Given the description of an element on the screen output the (x, y) to click on. 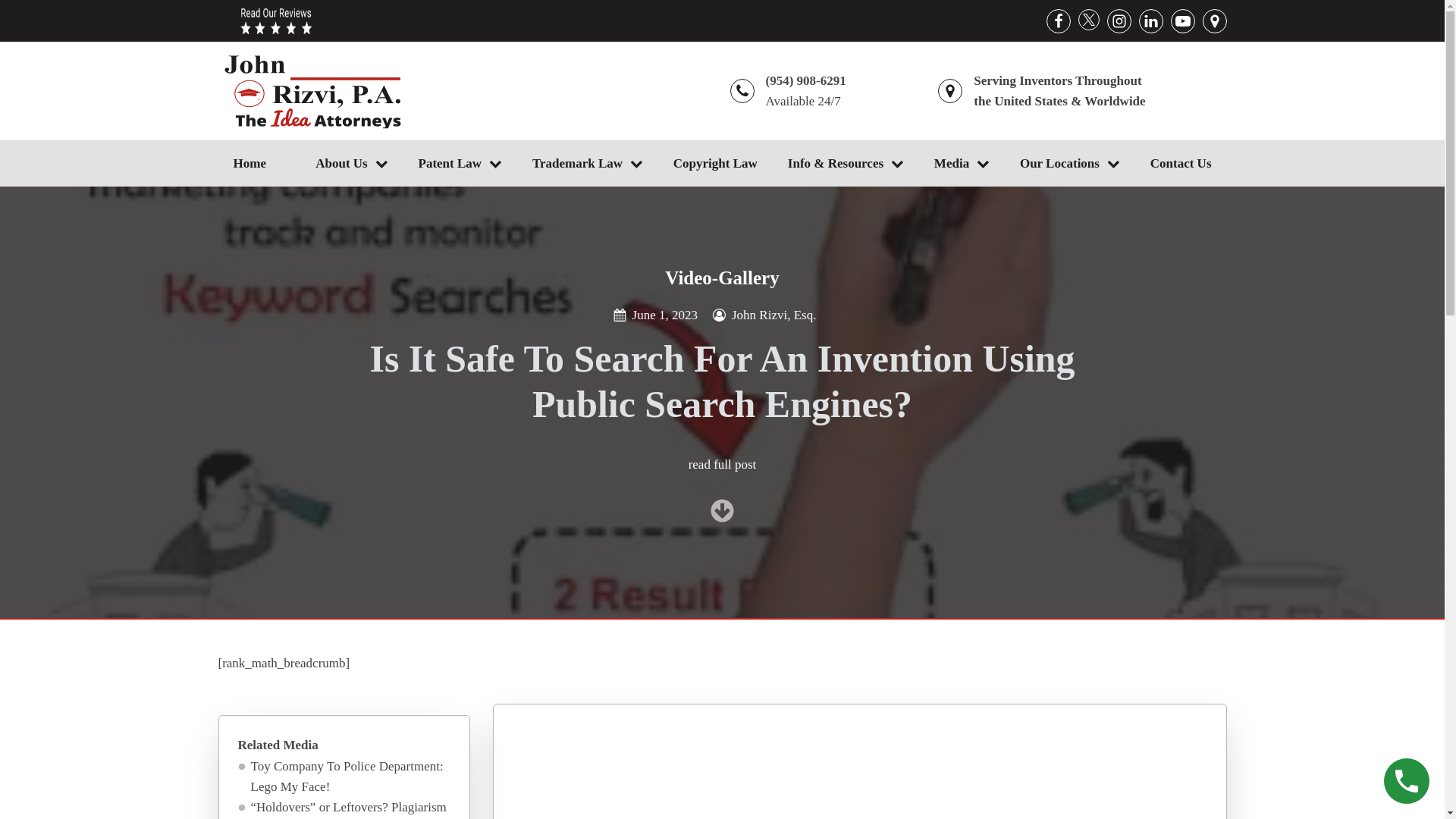
About Us (351, 163)
Copyright Law (715, 163)
YouTube video player (859, 776)
Trademark Law (587, 163)
Our Locations (1069, 163)
Back to home (312, 90)
Media (961, 163)
Patent Law (459, 163)
Home (259, 163)
